Given the description of an element on the screen output the (x, y) to click on. 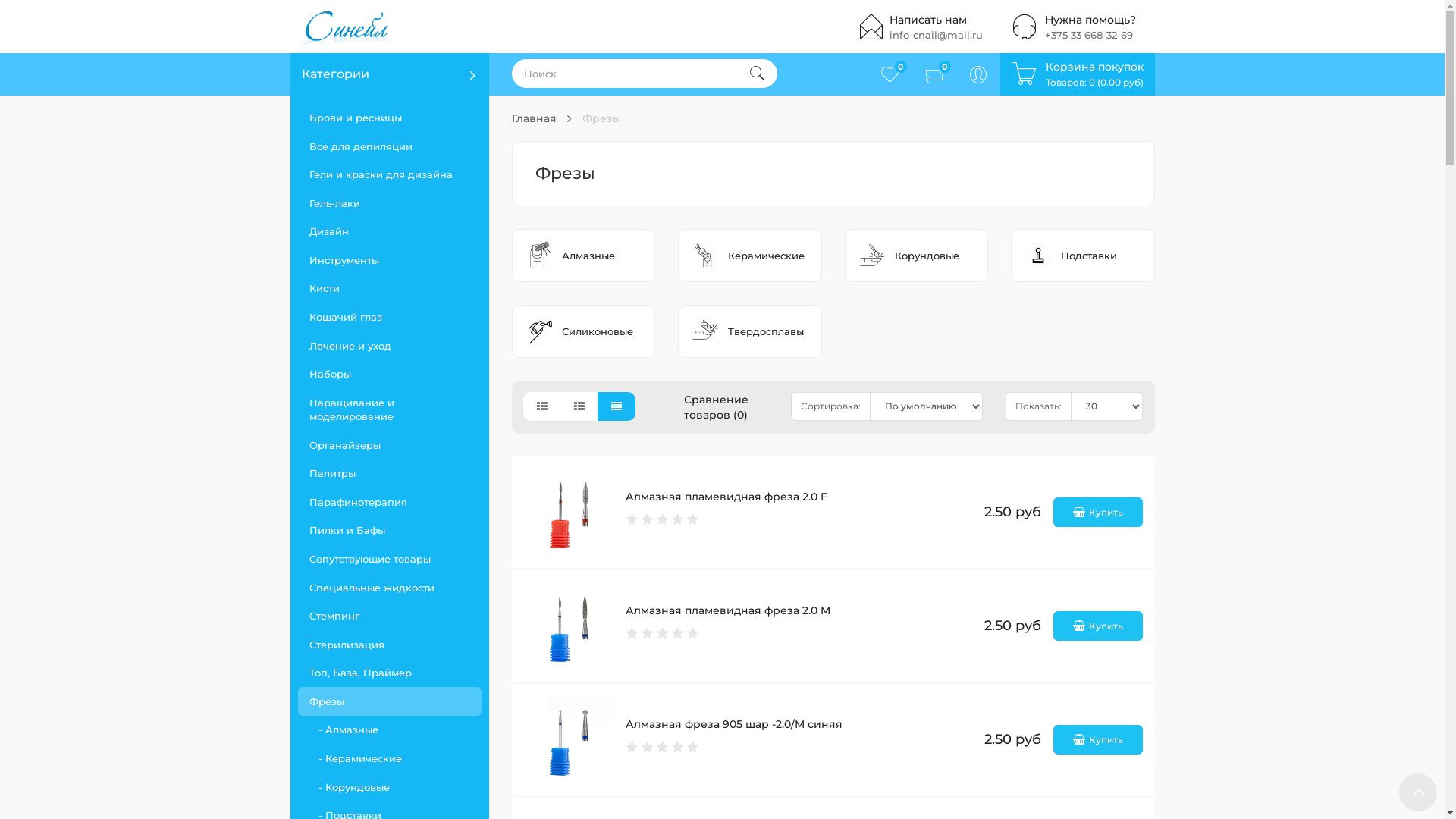
0 Element type: text (889, 74)
0 Element type: text (933, 74)
+375 33 668-32-69 Element type: text (1088, 34)
Cnail Element type: hover (347, 26)
info-cnail@mail.ru Element type: text (935, 34)
